Given the description of an element on the screen output the (x, y) to click on. 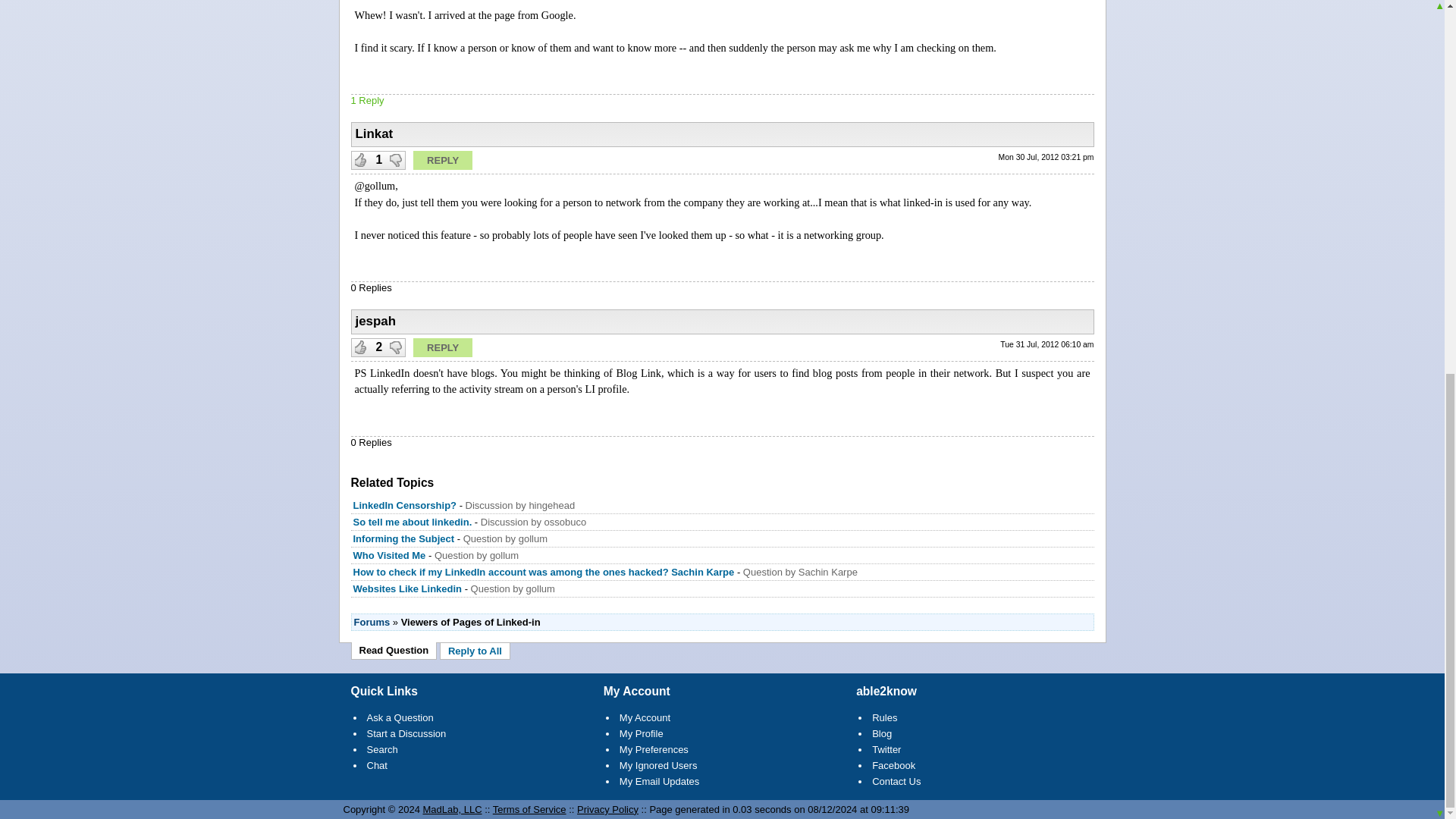
LinkedIn Censorship? (405, 505)
My Account (644, 717)
Reply (442, 159)
My Preferences (654, 749)
Websites Like Linkedin (408, 588)
Ask a Question (399, 717)
Reply (442, 347)
My Ignored Users (658, 765)
Reply to All (475, 651)
Who Visited Me (389, 555)
